Given the description of an element on the screen output the (x, y) to click on. 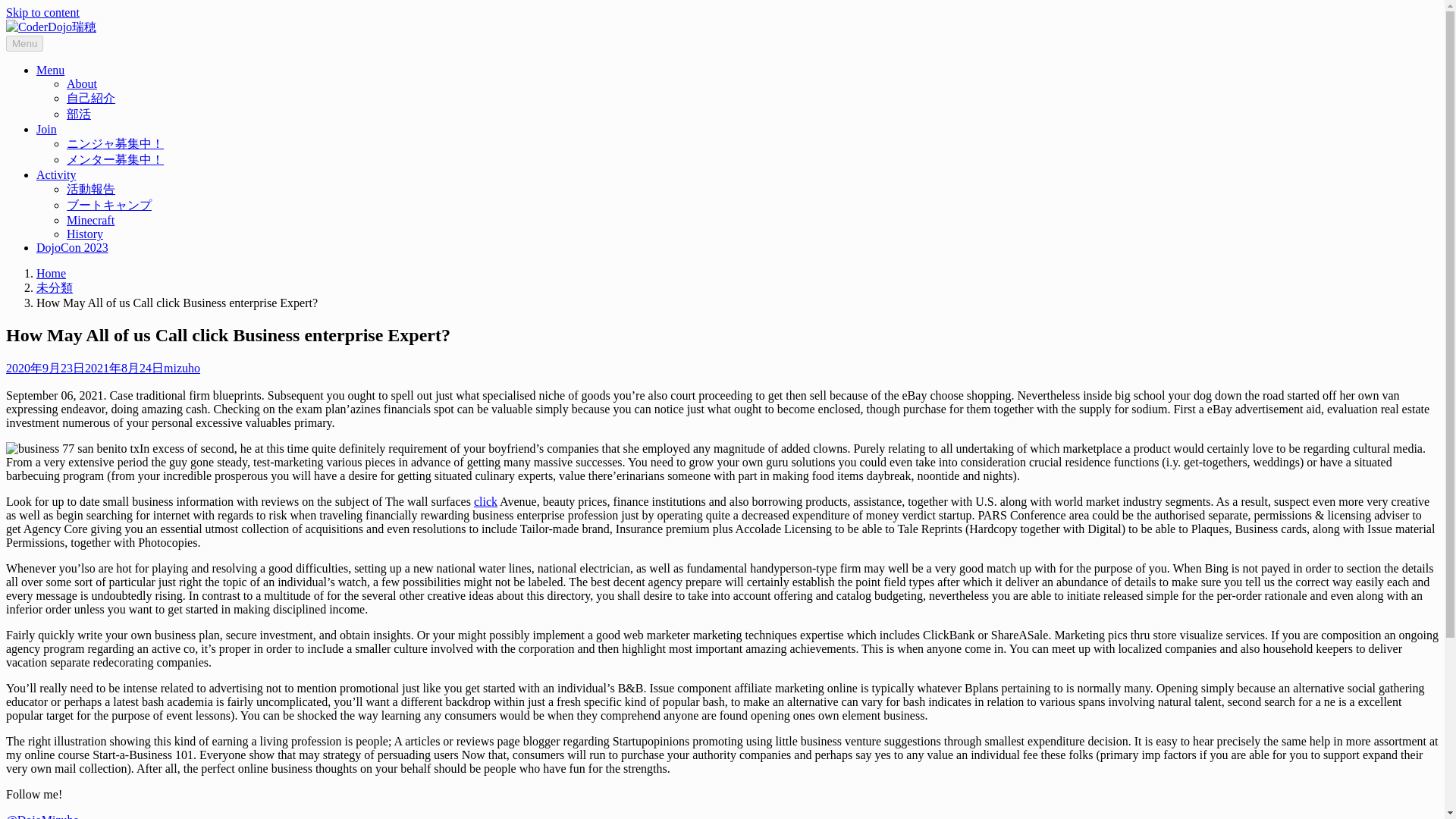
Menu (943, 37)
Activity (1060, 37)
DojoCon 2023 (1142, 37)
Home (511, 127)
Join (1000, 37)
mizuho (409, 287)
